Given the description of an element on the screen output the (x, y) to click on. 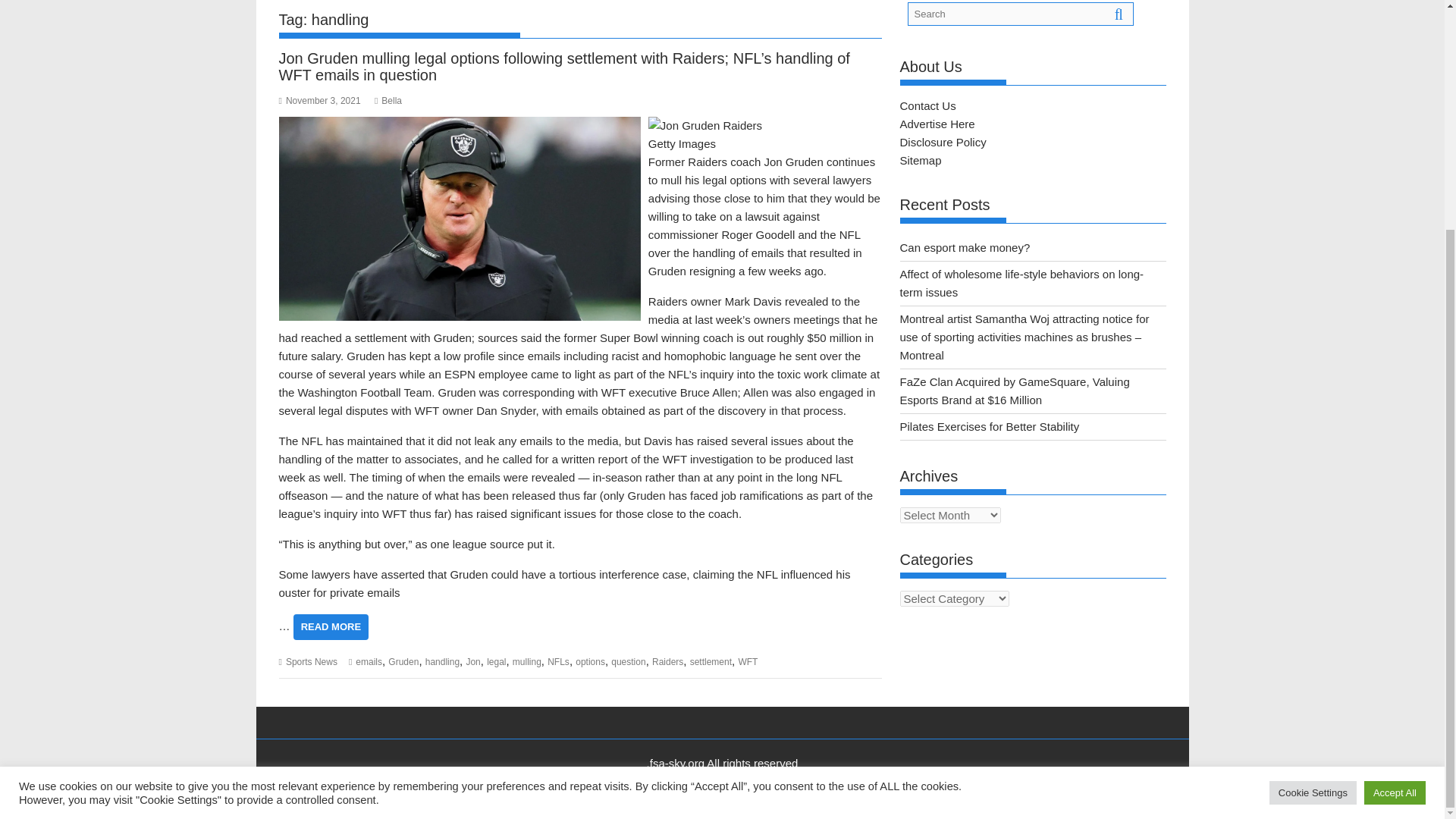
Bella (387, 100)
November 3, 2021 (320, 100)
READ MORE (331, 626)
